Given the description of an element on the screen output the (x, y) to click on. 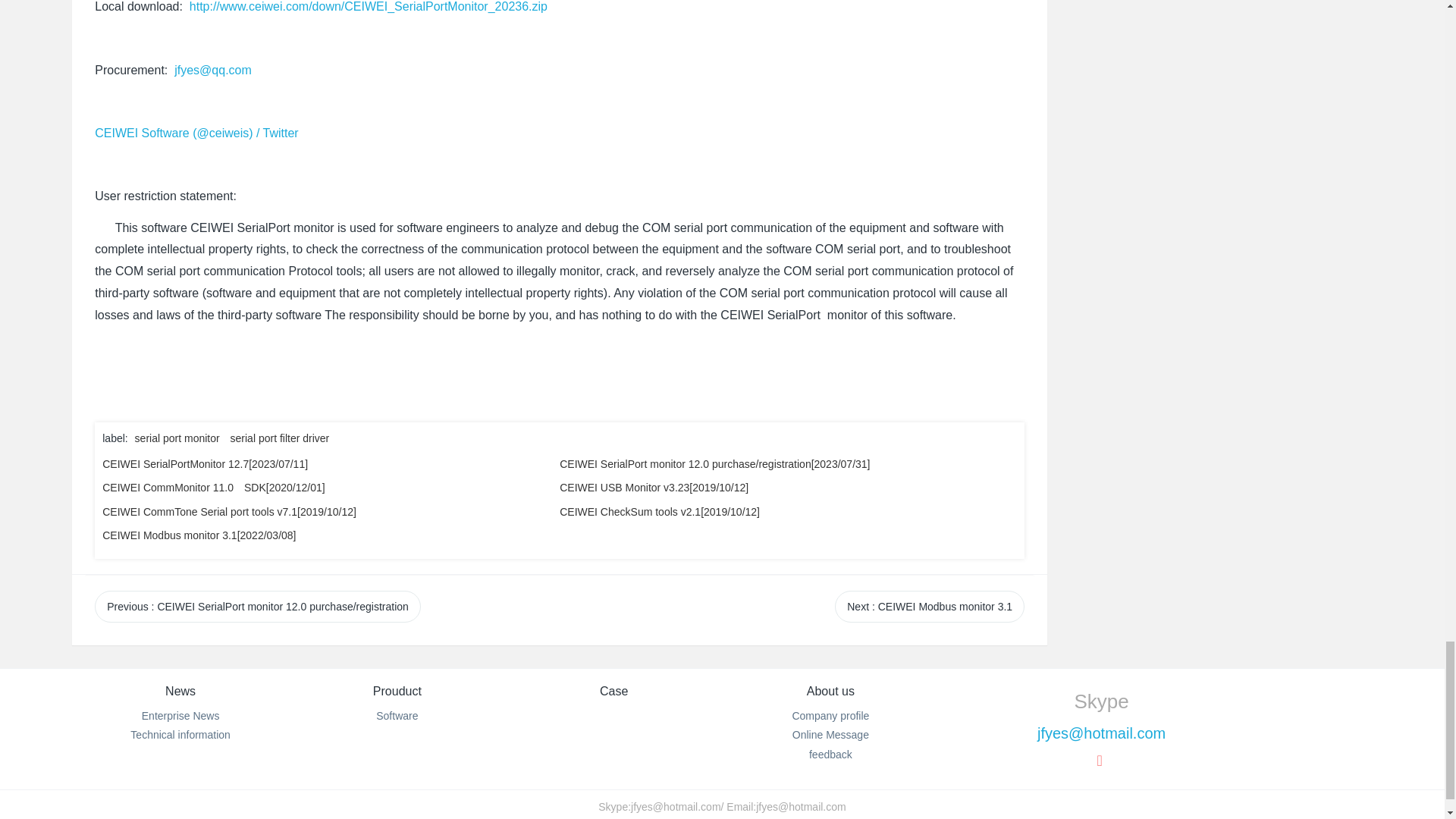
Next : CEIWEI Modbus monitor 3.1 (929, 606)
serial port filter driver (280, 438)
serial port monitor (177, 438)
